Given the description of an element on the screen output the (x, y) to click on. 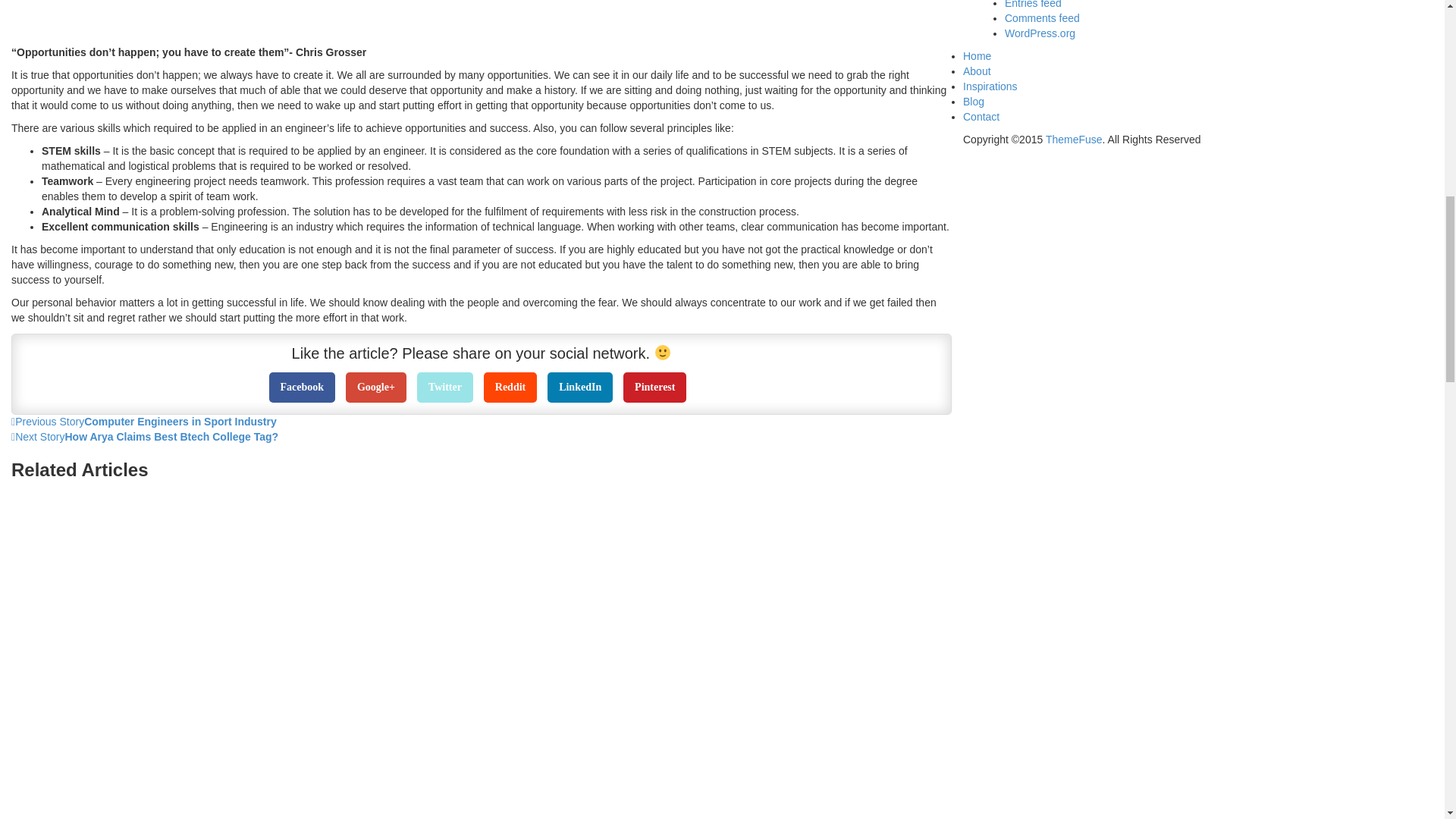
LinkedIn (579, 387)
Twitter (444, 387)
Share this post on Twitter! (444, 387)
Facebook (302, 387)
Share this post on Facebook! (302, 387)
Pinterest (654, 387)
Previous StoryComputer Engineers in Sport Industry (481, 421)
Next StoryHow Arya Claims Best Btech College Tag? (481, 437)
Reddit (510, 387)
